Given the description of an element on the screen output the (x, y) to click on. 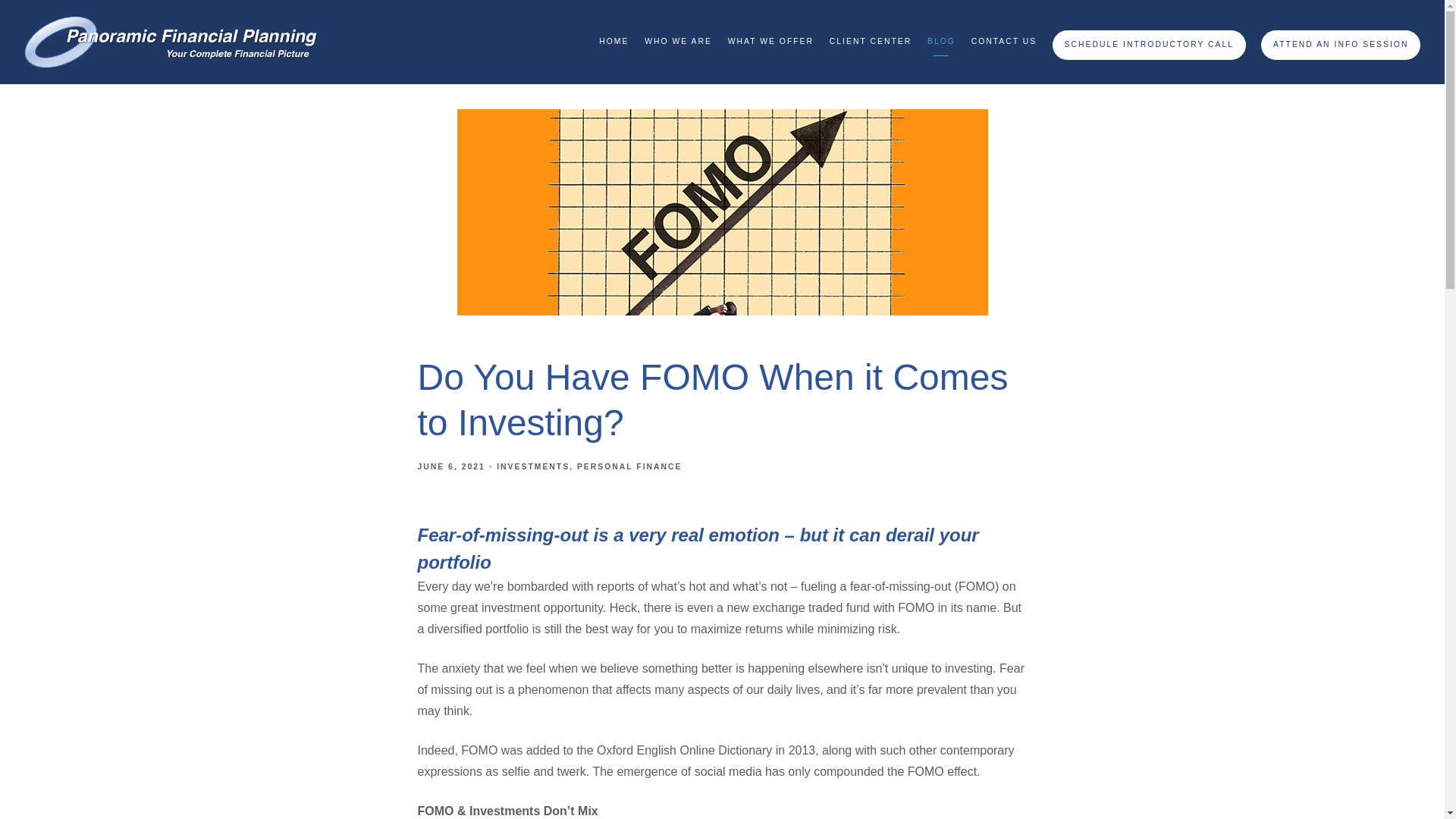
WHO WE ARE (678, 42)
CLIENT CENTER (870, 42)
CONTACT US (1003, 42)
ATTEND AN INFO SESSION (1340, 44)
HOME (613, 42)
SCHEDULE INTRODUCTORY CALL (1149, 44)
INVESTMENTS (532, 466)
BLOG (941, 42)
PERSONAL FINANCE (629, 466)
WHAT WE OFFER (770, 42)
